Given the description of an element on the screen output the (x, y) to click on. 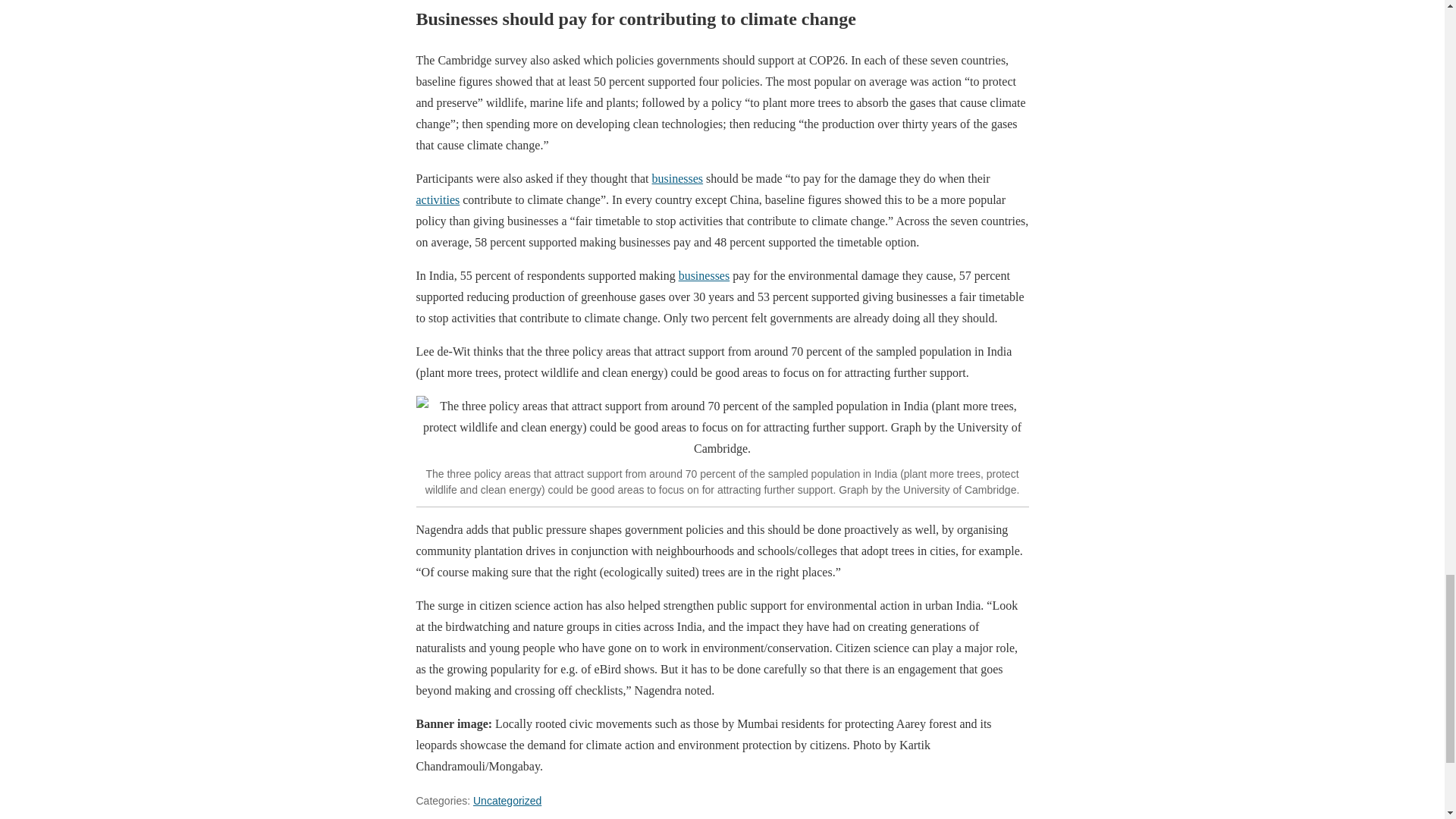
activities (437, 199)
businesses (677, 178)
businesses (704, 275)
Uncategorized (507, 800)
